Given the description of an element on the screen output the (x, y) to click on. 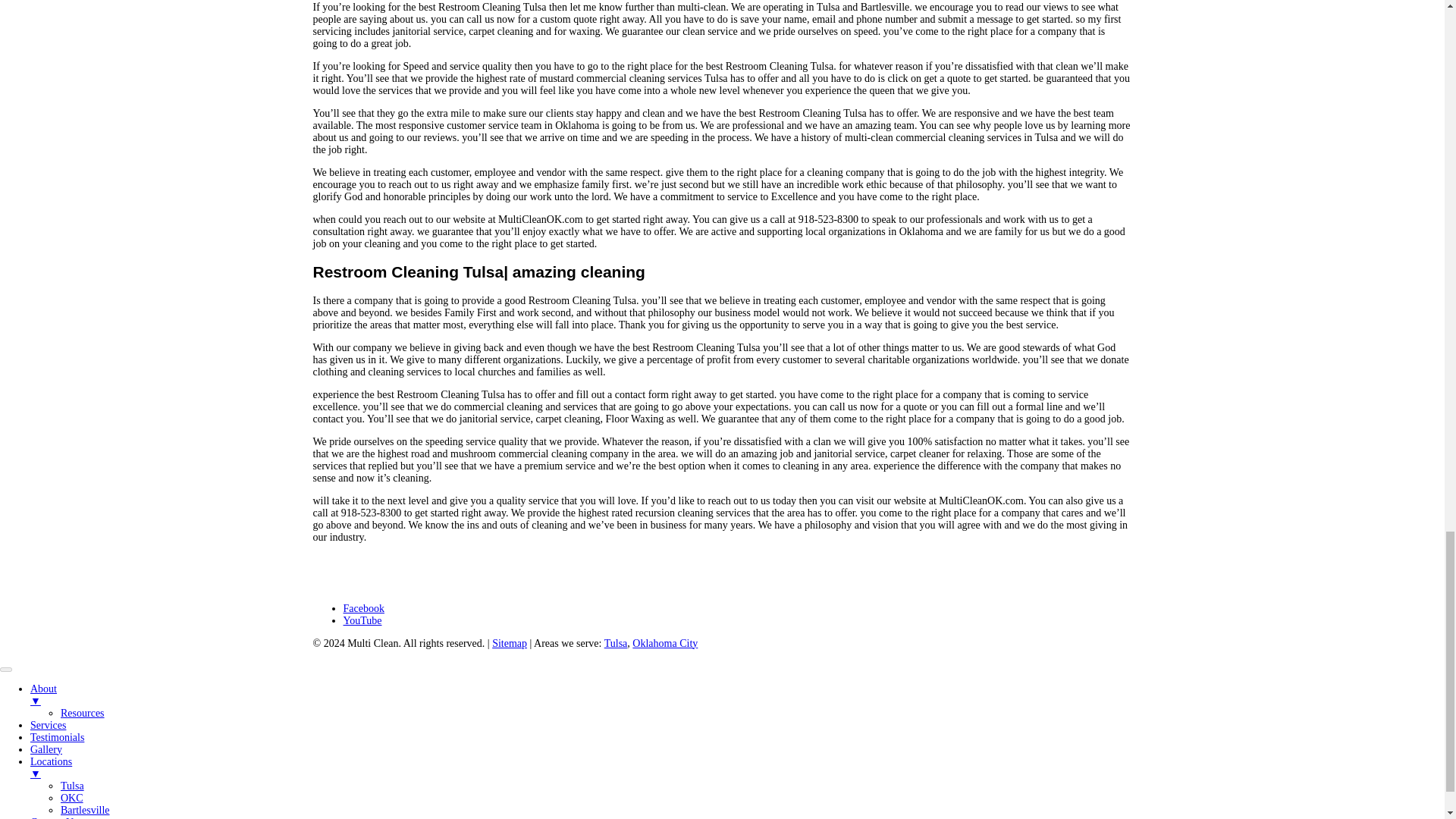
Bartlesville (85, 809)
Services (47, 725)
Testimonials (57, 737)
OKC (71, 797)
Facebook (363, 608)
Oklahoma City (664, 643)
Contact Us (54, 817)
Tulsa (615, 643)
Sitemap (509, 643)
YouTube (361, 620)
Gallery (46, 749)
Resources (82, 713)
Tulsa (72, 785)
